Given the description of an element on the screen output the (x, y) to click on. 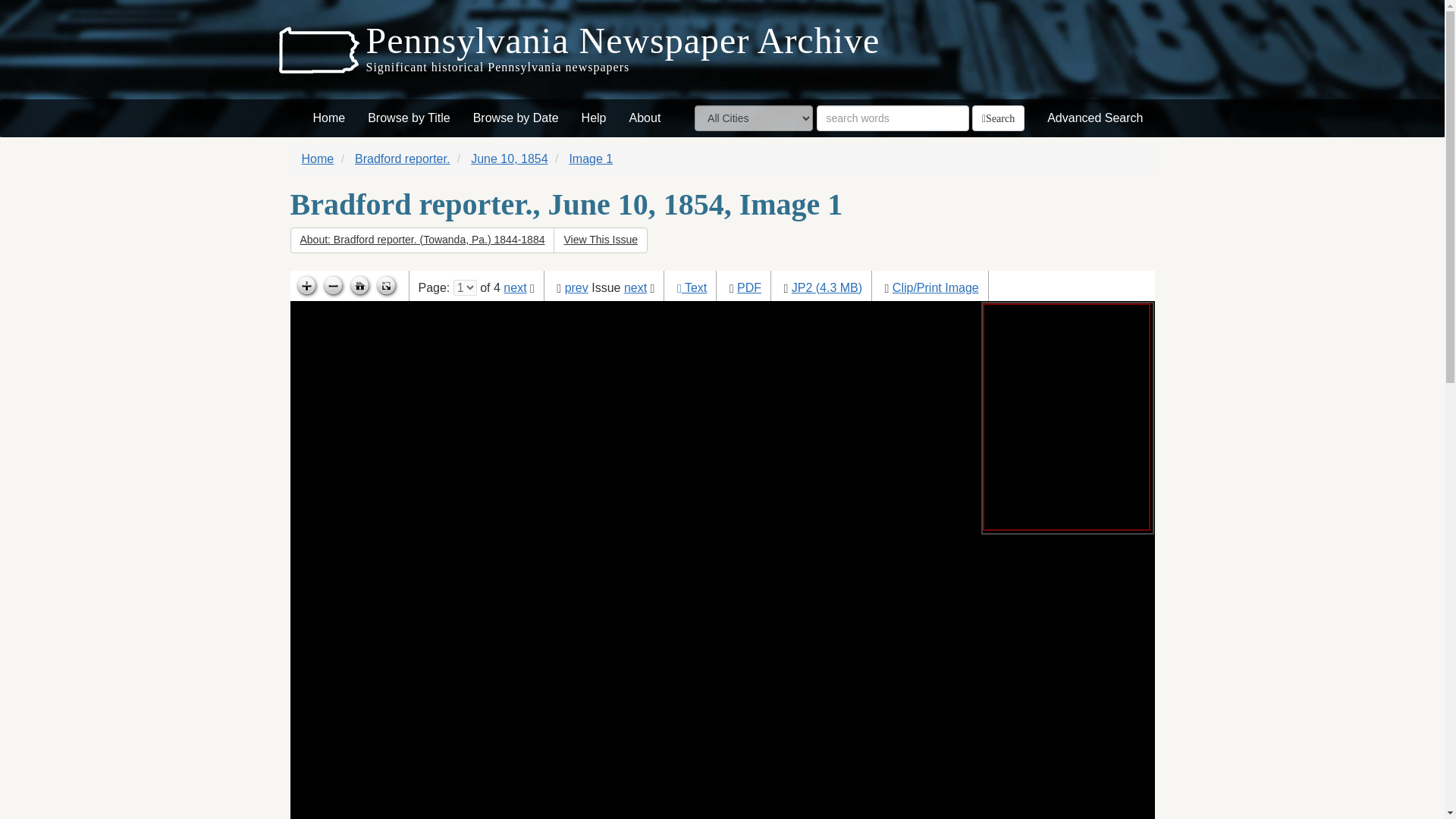
PDF (748, 287)
Home (328, 118)
View This Issue (600, 240)
Advanced Search (1094, 118)
Bradford reporter. (402, 158)
next (514, 287)
prev (576, 287)
Go home (359, 286)
About (644, 118)
Search (998, 118)
Help (593, 118)
Zoom out (333, 286)
Browse by Title (408, 118)
Browse by Date (515, 118)
June 10, 1854 (508, 158)
